Given the description of an element on the screen output the (x, y) to click on. 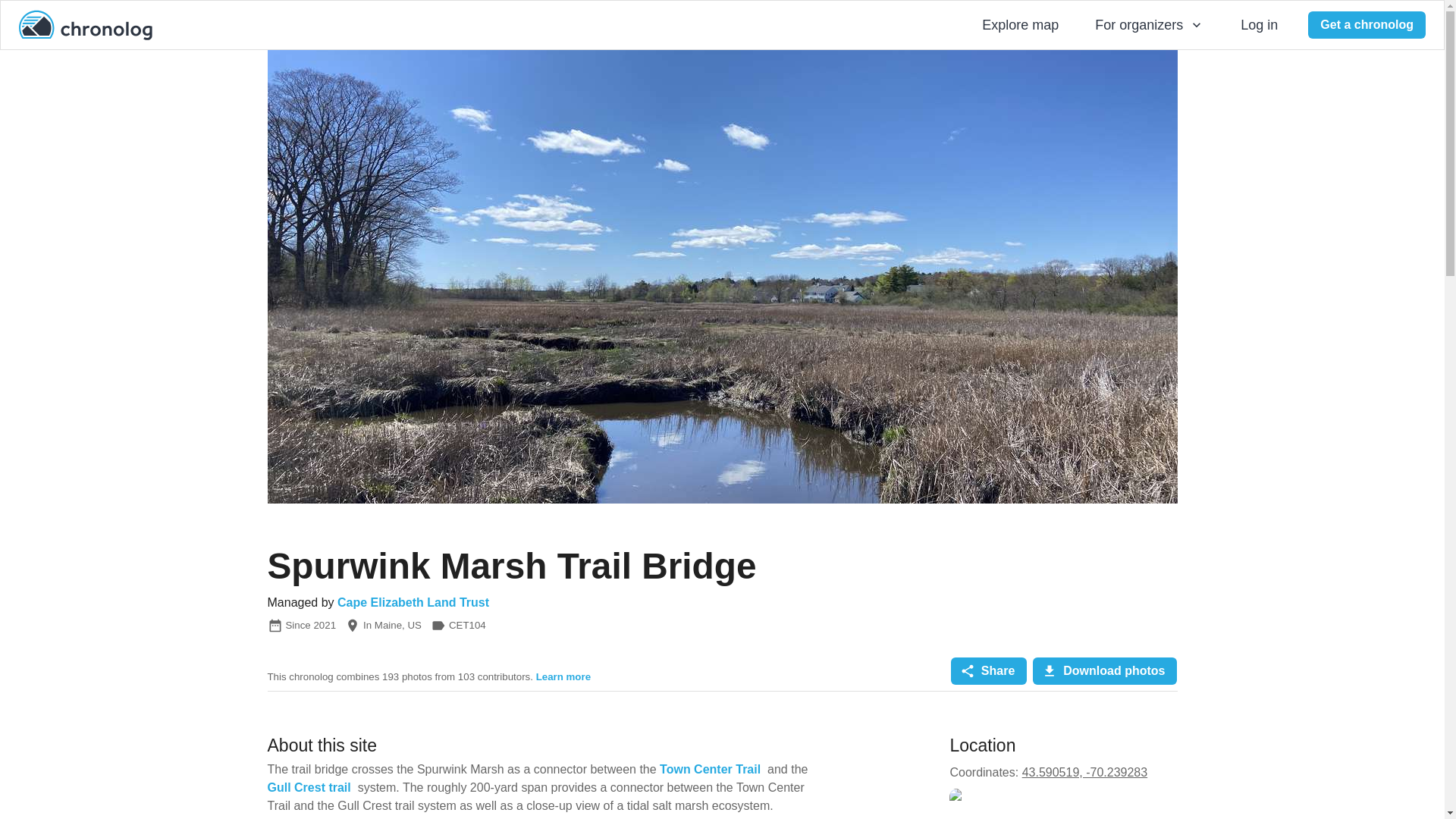
Town Center Trail (709, 768)
Share (988, 670)
Download photos (1104, 670)
Gull Crest trail (308, 787)
Log in (1259, 25)
Cape Elizabeth Land Trust (413, 602)
43.590519, -70.239283 (1084, 771)
Get a chronolog (1366, 24)
Explore map (1019, 25)
Learn more (563, 676)
